Given the description of an element on the screen output the (x, y) to click on. 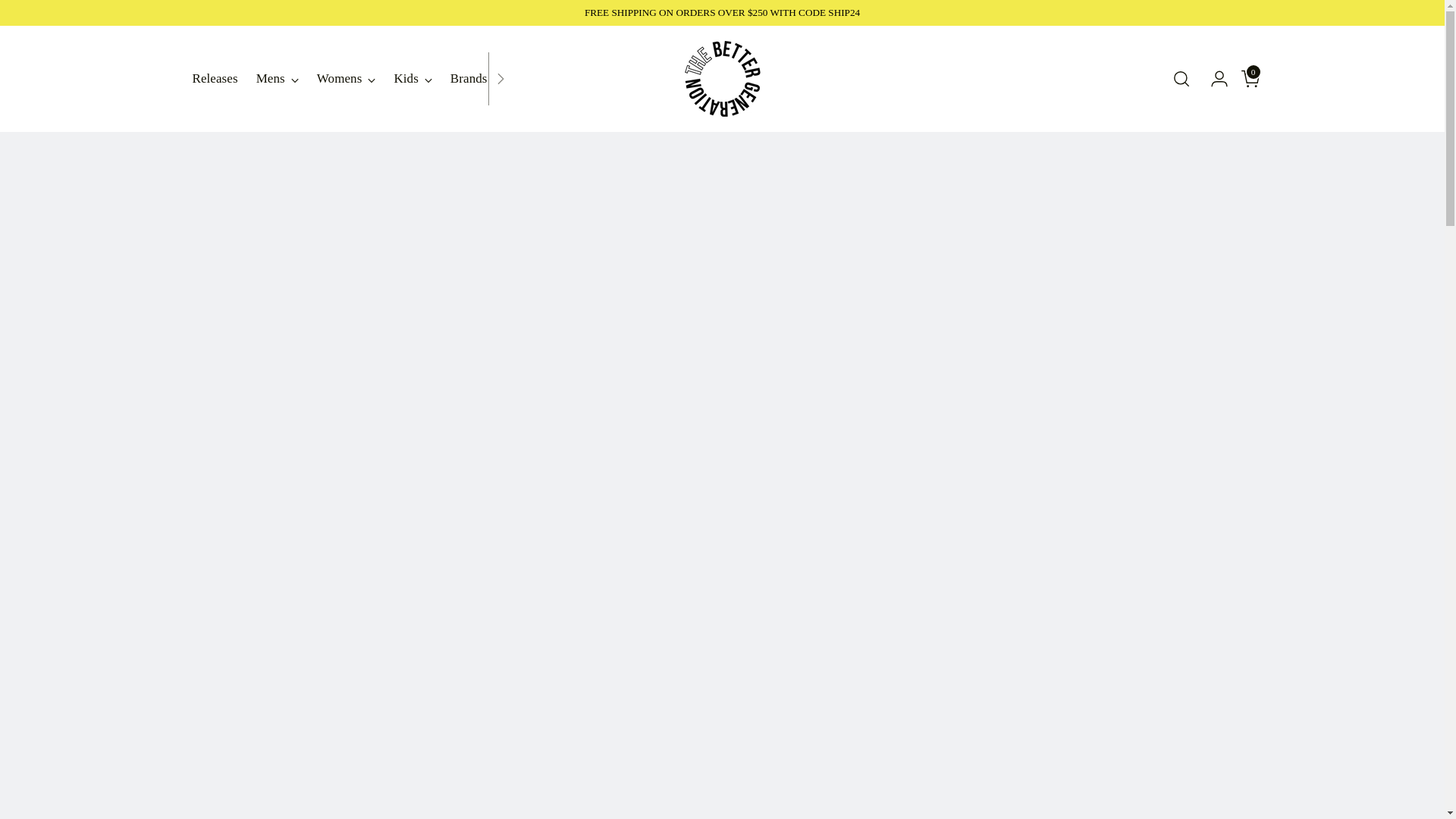
Brands (468, 78)
0 (1245, 78)
Womens (350, 78)
Kids (346, 78)
Mens (411, 78)
Releases (277, 78)
